Given the description of an element on the screen output the (x, y) to click on. 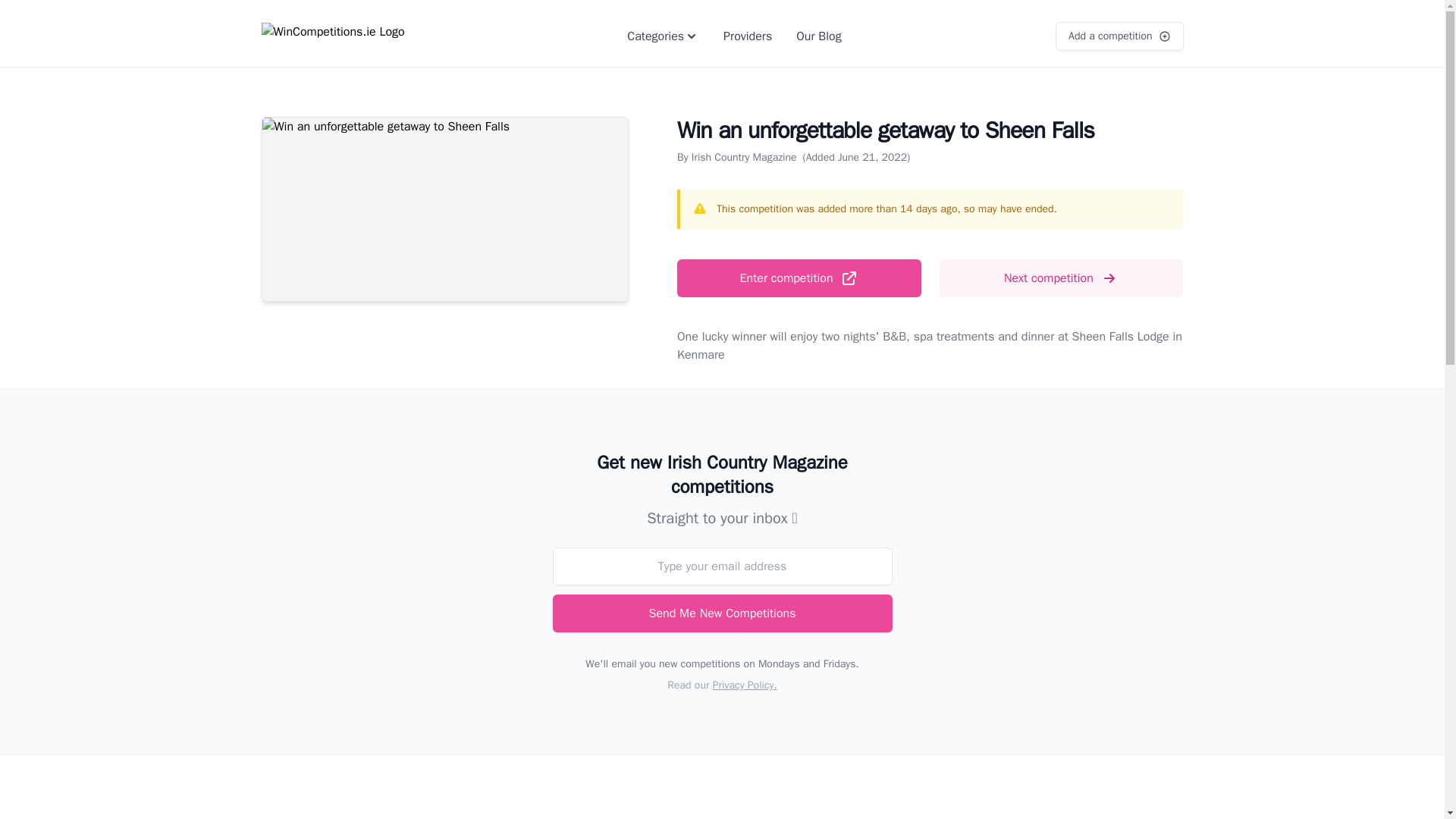
Categories (662, 36)
Send Me New Competitions (721, 613)
Win Competitions (355, 36)
Add a competition (1118, 36)
Providers (747, 35)
Privacy Policy. (745, 684)
Next competition   (1061, 278)
Irish Country Magazine (743, 156)
Enter competition   (799, 278)
Our Blog (818, 35)
